Given the description of an element on the screen output the (x, y) to click on. 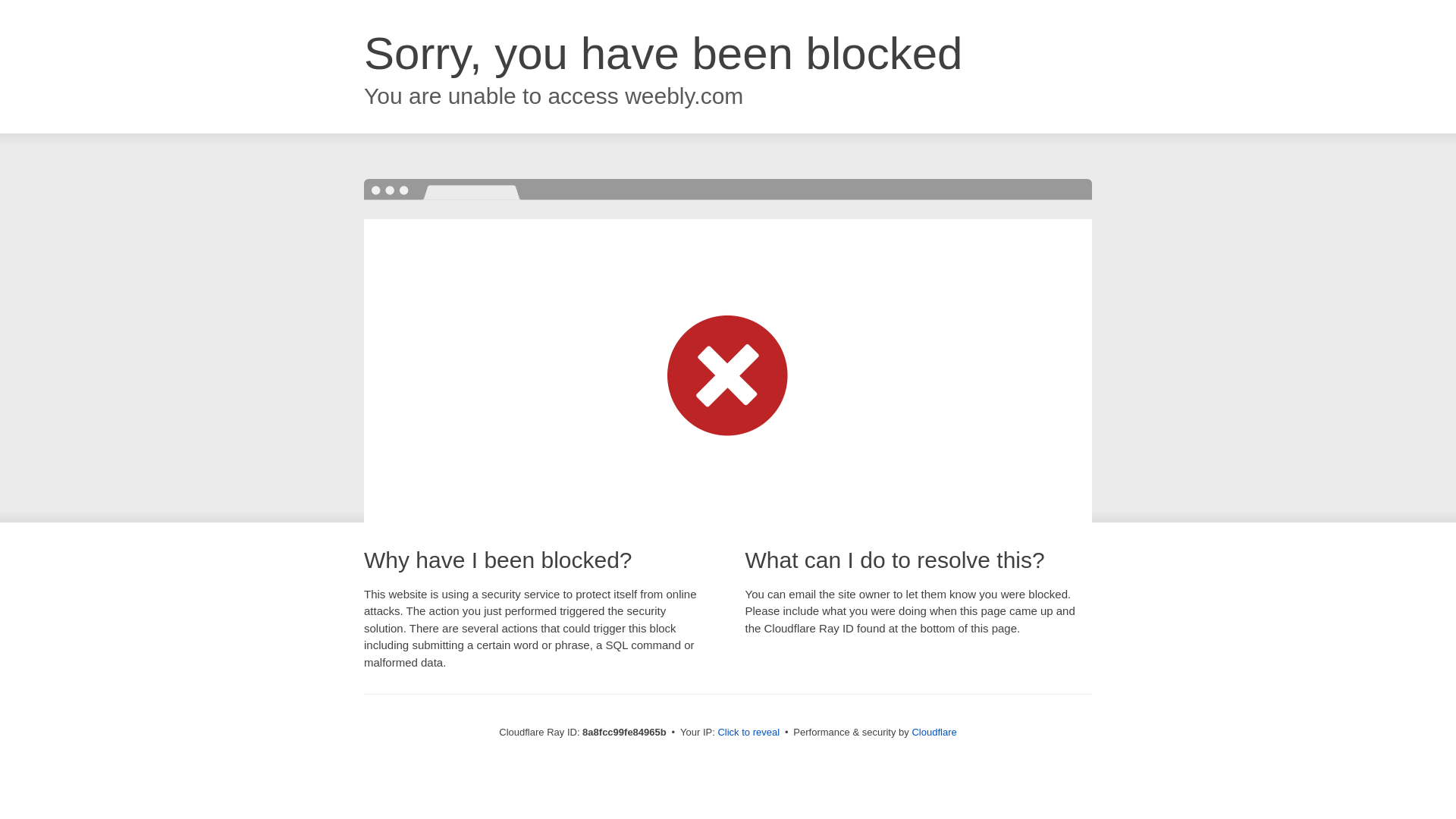
Click to reveal (747, 732)
Cloudflare (933, 731)
